Given the description of an element on the screen output the (x, y) to click on. 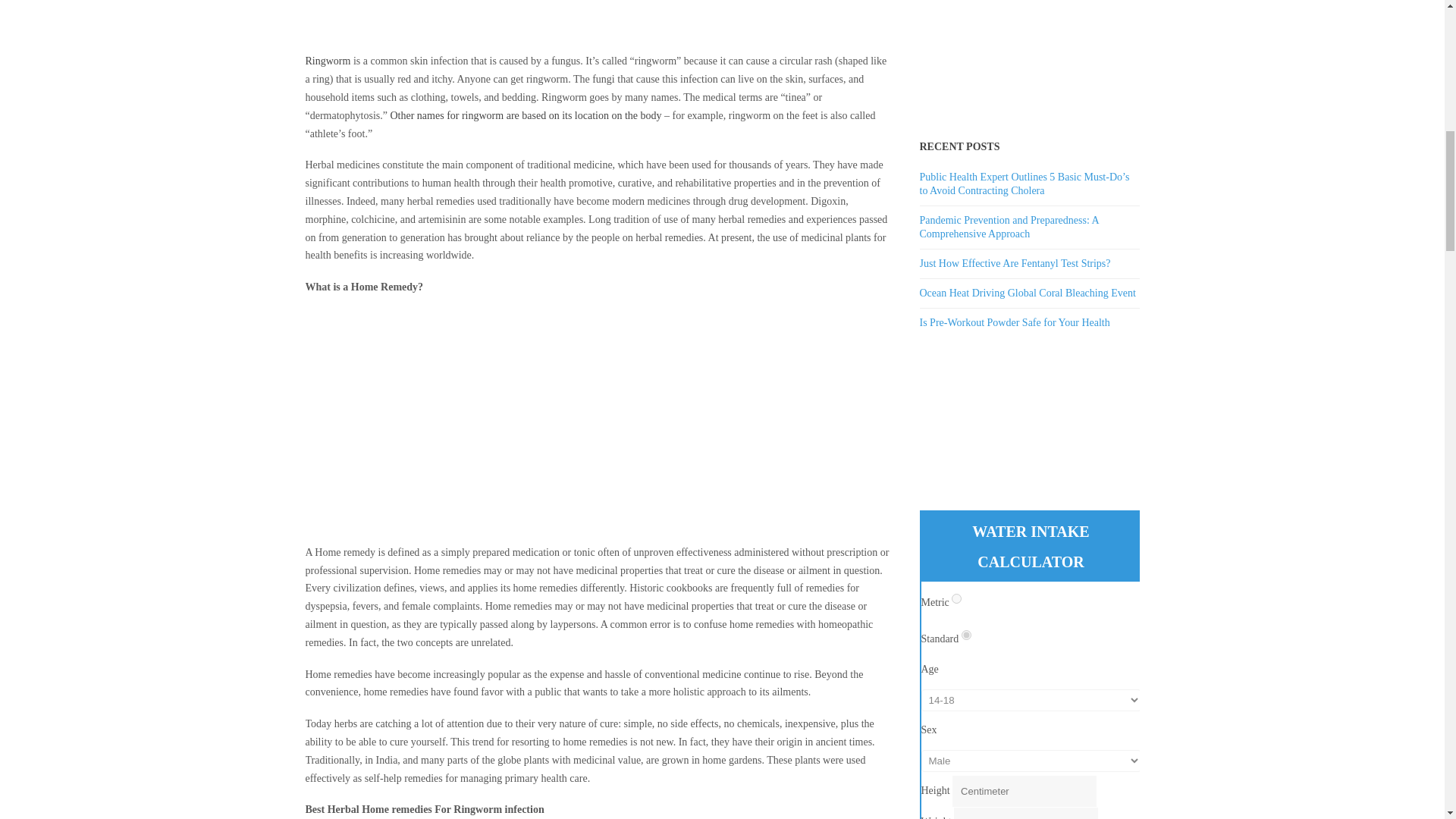
Ringworm (327, 60)
